Given the description of an element on the screen output the (x, y) to click on. 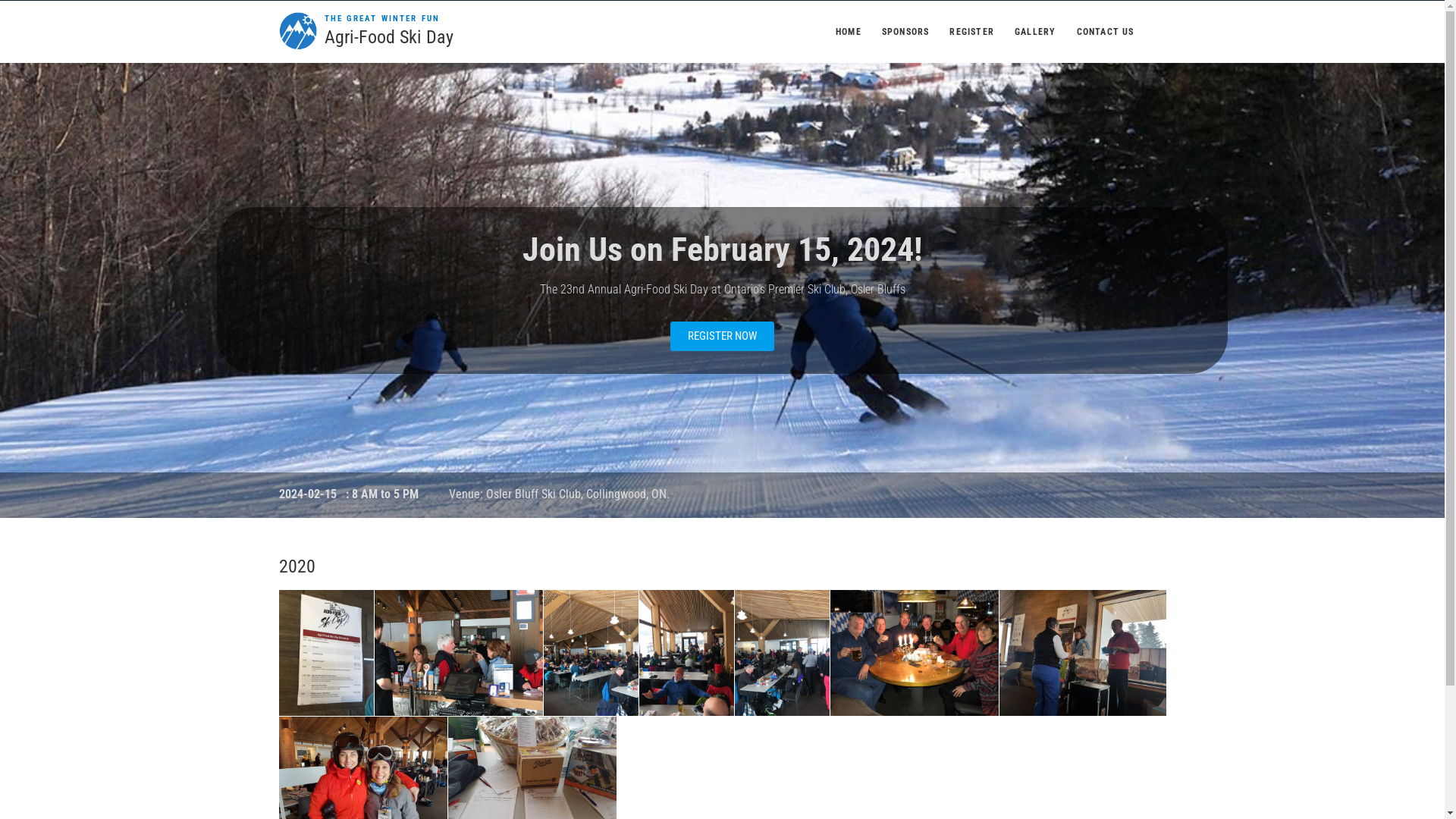
SPONSORS Element type: text (905, 31)
agri-food-ski-day-2020-7 Element type: hover (1082, 652)
CONTACT US Element type: text (1105, 31)
agri-food-ski-day-2020-5 Element type: hover (781, 652)
agri-food-ski-day-2020-6 Element type: hover (913, 652)
agri-food-ski-day-2020-1 Element type: hover (326, 652)
REGISTER Element type: text (971, 31)
GALLERY Element type: text (1034, 31)
REGISTER NOW Element type: text (722, 336)
agri-food-ski-day-2020-3 Element type: hover (589, 652)
HOME Element type: text (848, 31)
Join Us on February 15, 2024! Element type: text (722, 249)
agri-food-ski-day-2020-4 Element type: hover (685, 652)
agri-food-ski-day-2020-2 Element type: hover (458, 652)
Agri-Food Ski Day Element type: text (388, 37)
